Given the description of an element on the screen output the (x, y) to click on. 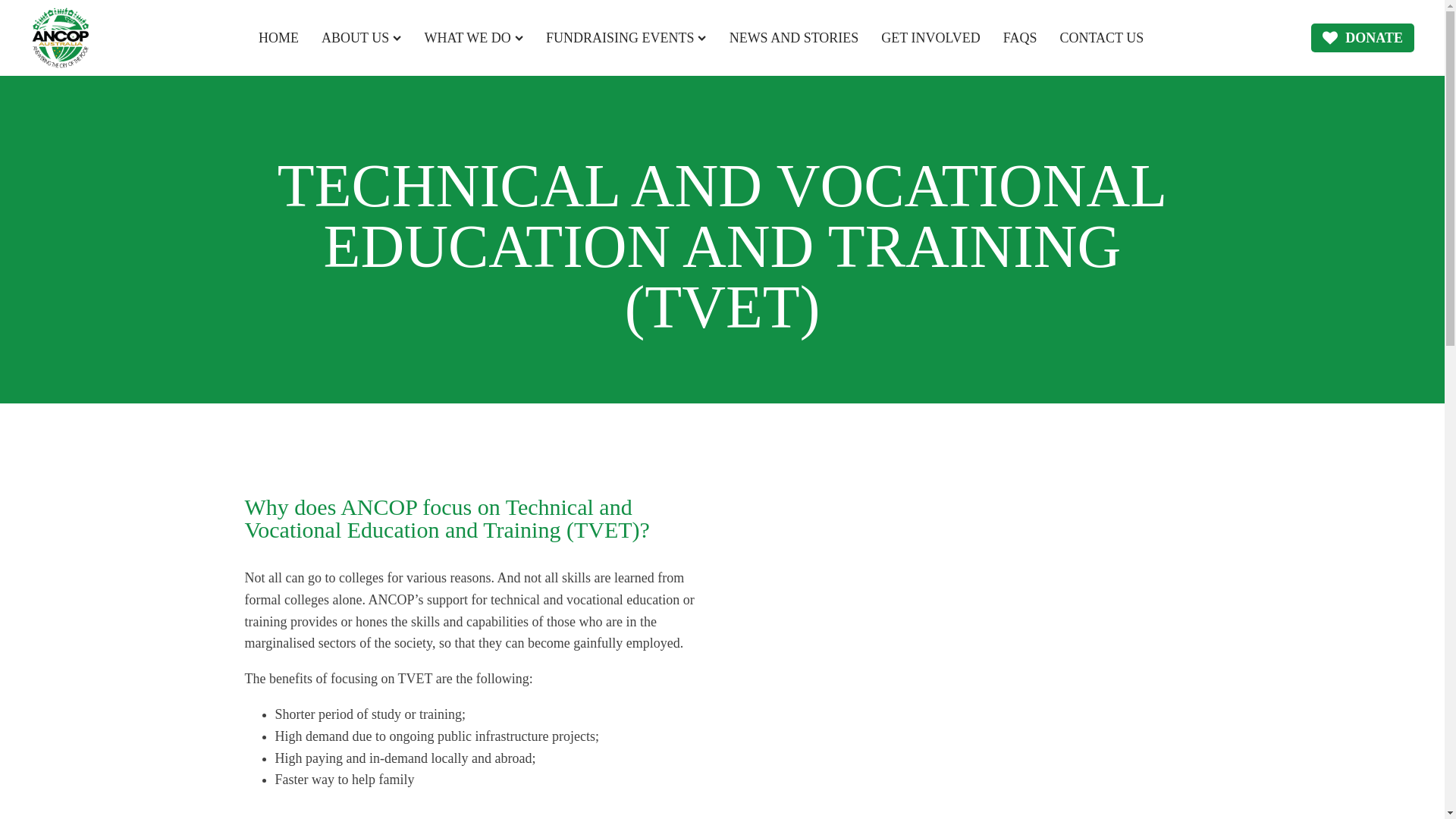
GET INVOLVED (929, 38)
DONATE (1362, 38)
CONTACT US (1101, 38)
FAQS (1019, 38)
FUNDRAISING EVENTS (626, 38)
ABOUT US (361, 38)
HOME (278, 38)
NEWS AND STORIES (794, 38)
WHAT WE DO (472, 38)
